Given the description of an element on the screen output the (x, y) to click on. 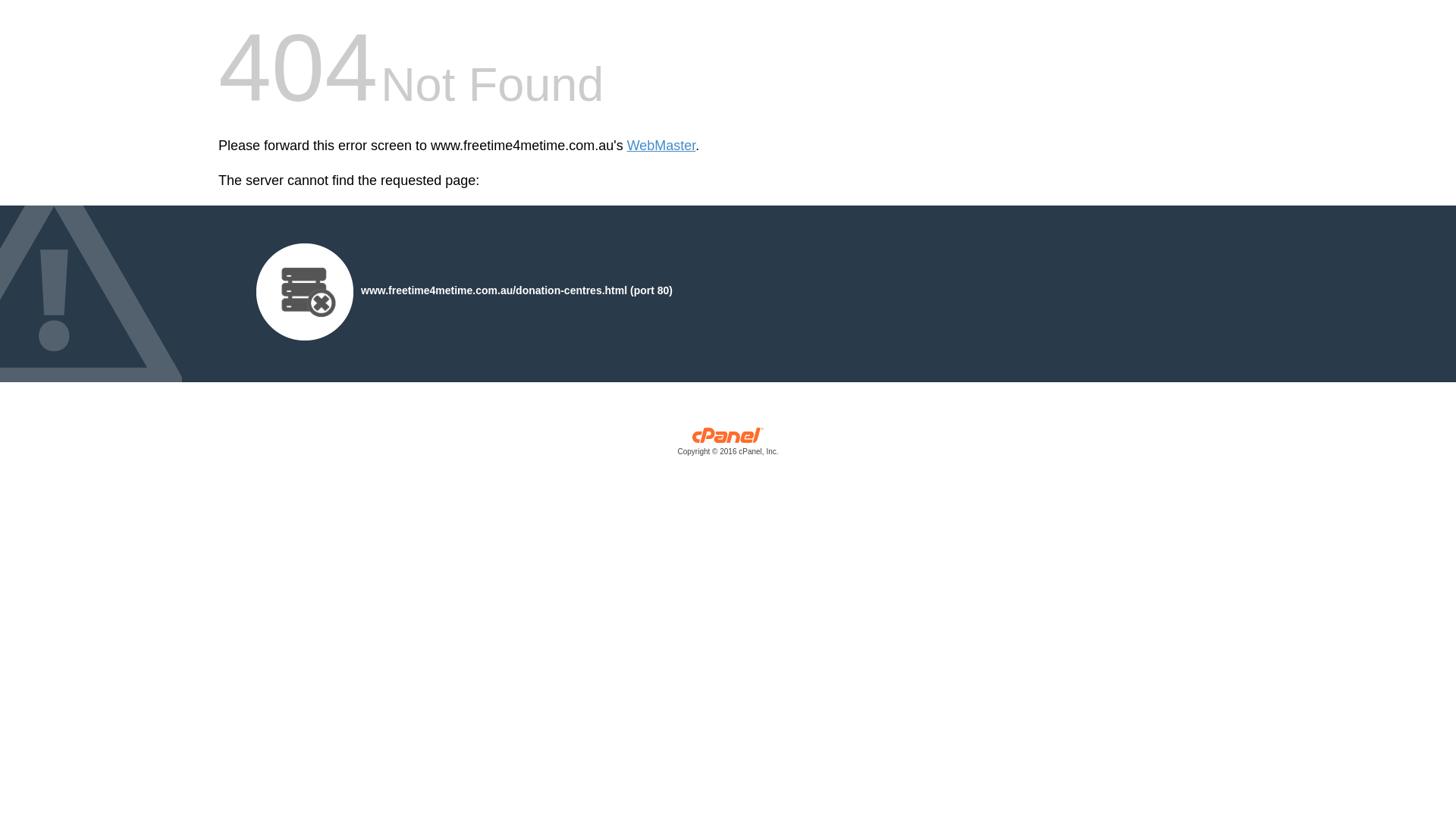
WebMaster Element type: text (661, 145)
